Given the description of an element on the screen output the (x, y) to click on. 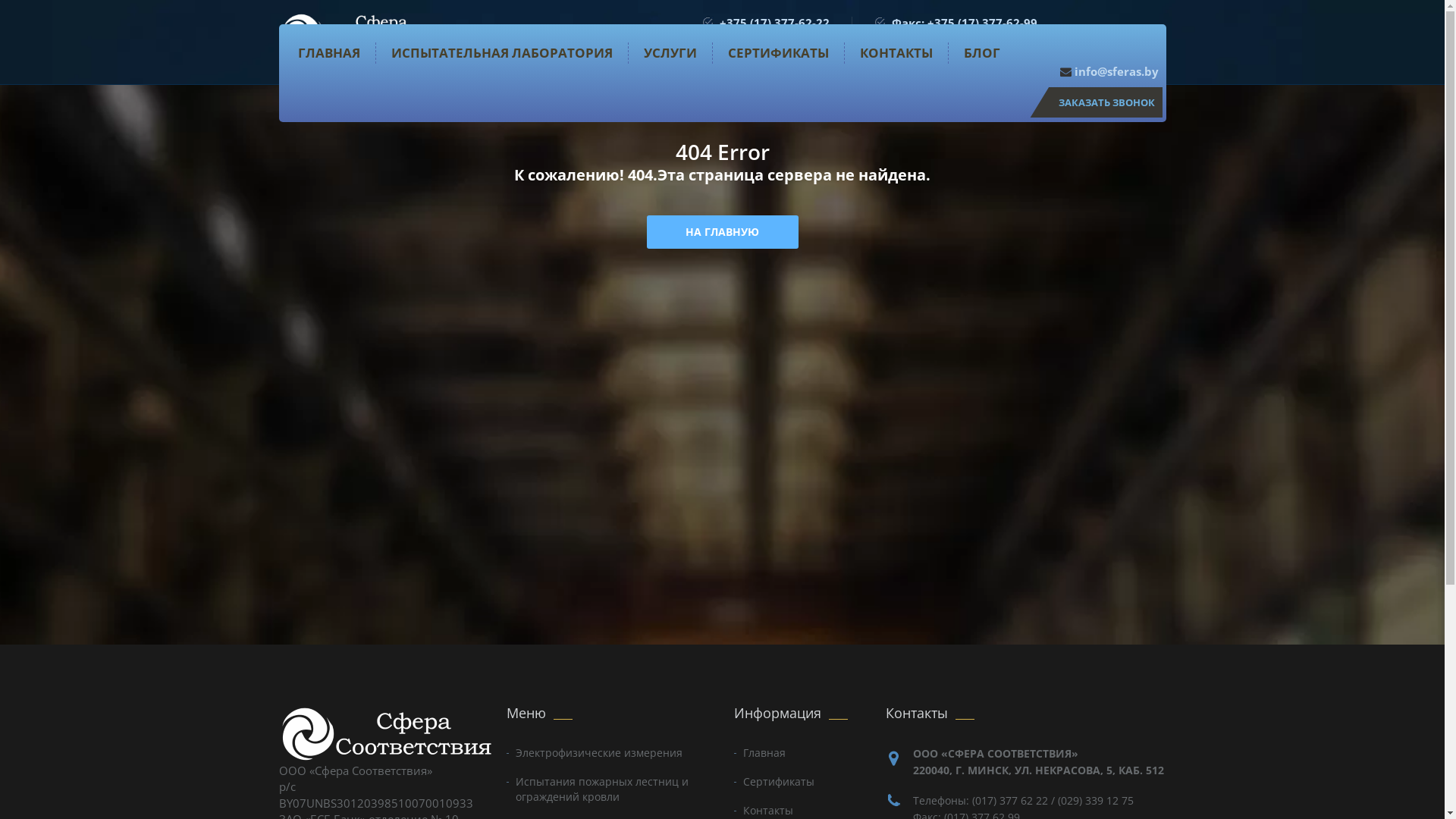
(029) 339 12 75 Element type: text (1094, 800)
+375 (17) 377-62-22 Element type: text (773, 22)
+375 (33) 335-49-31 Element type: text (773, 37)
info@sferas.by Element type: text (1109, 70)
(017) 377 62 22 Element type: text (1010, 800)
